Given the description of an element on the screen output the (x, y) to click on. 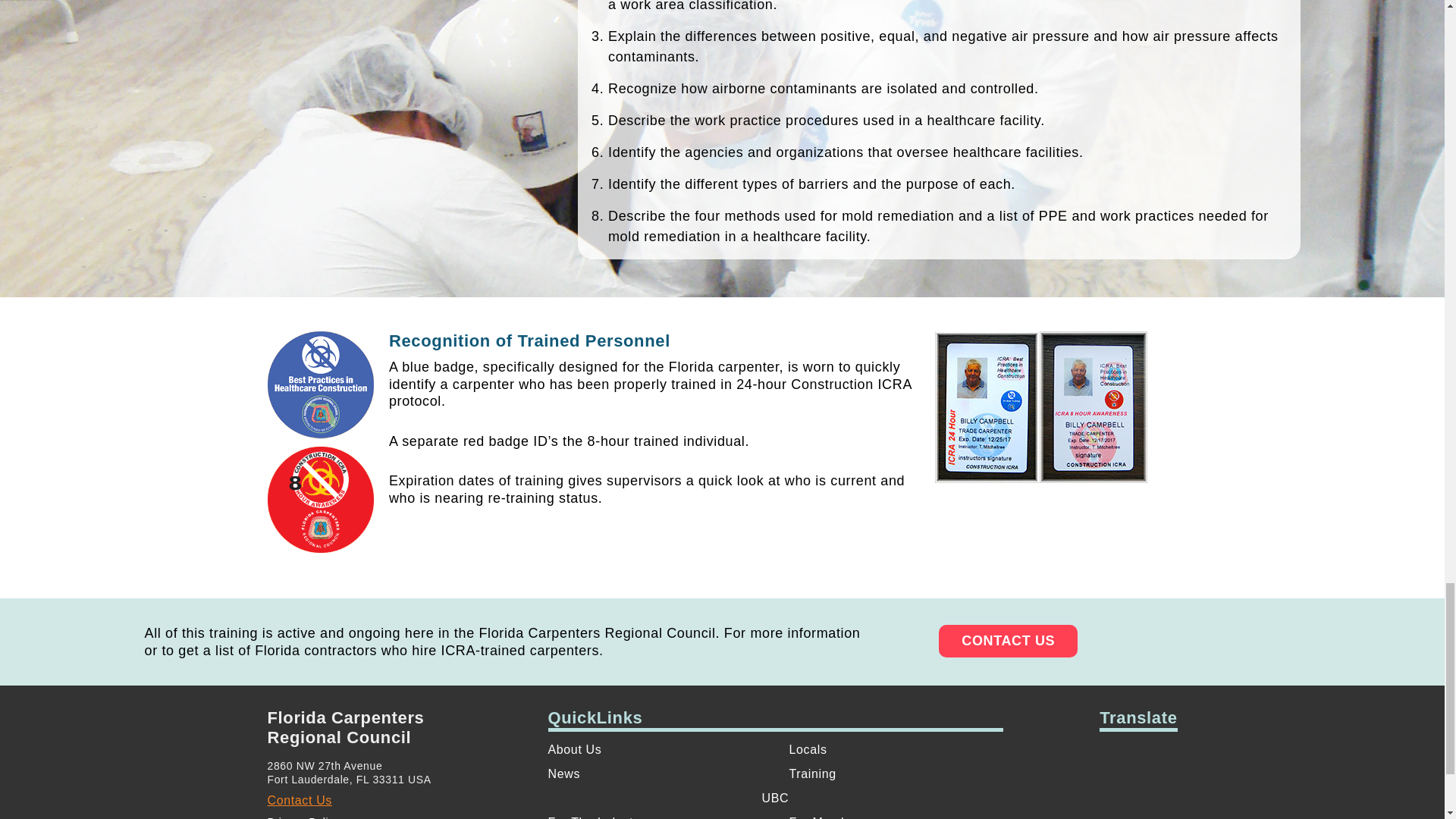
ICRA (319, 384)
ICRA (319, 499)
ICRA Badge (1040, 407)
